Given the description of an element on the screen output the (x, y) to click on. 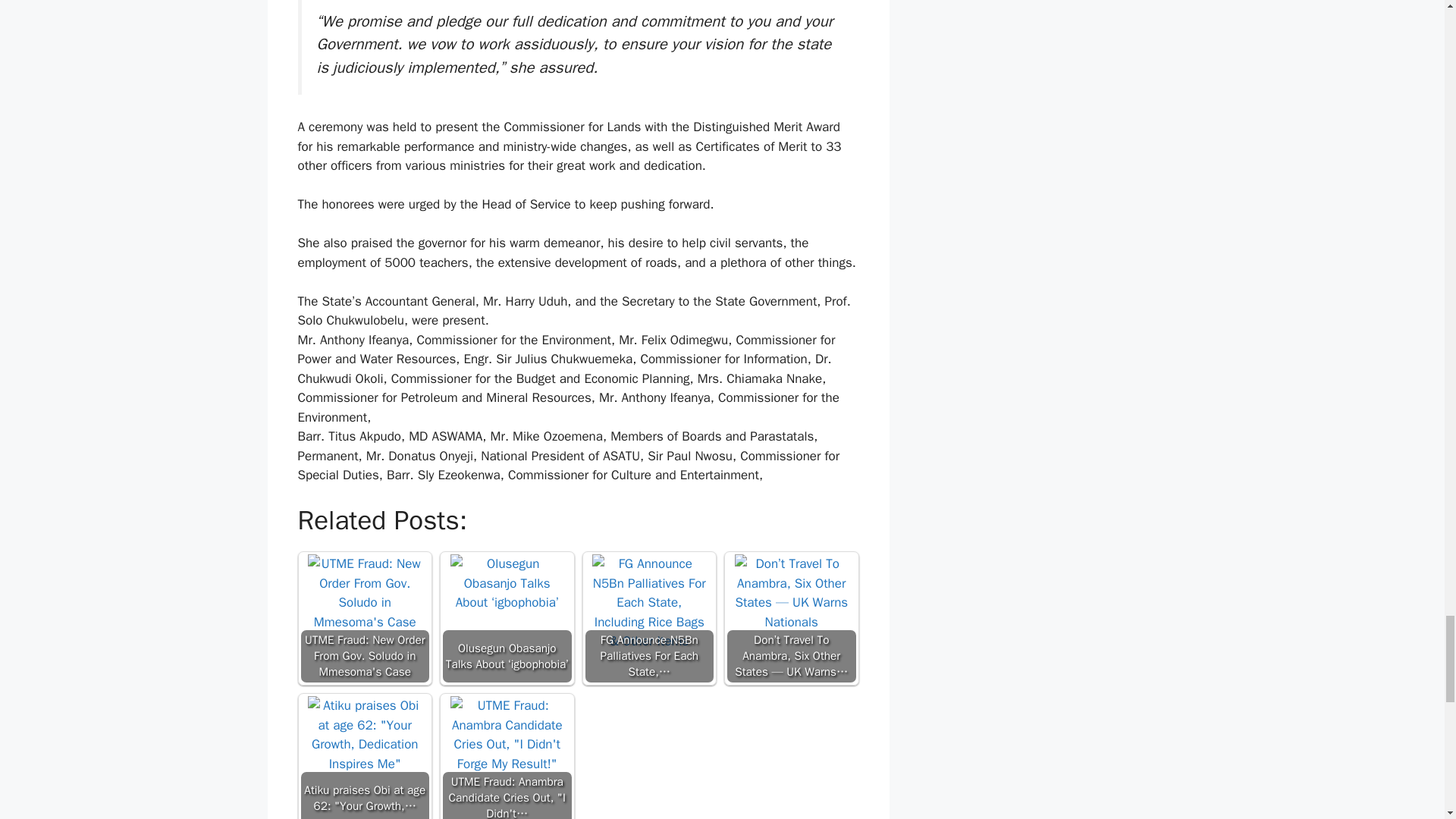
UTME Fraud: New Order From Gov. Soludo in Mmesoma's Case (364, 611)
UTME Fraud: New Order From Gov. Soludo in Mmesoma's Case (365, 618)
